Given the description of an element on the screen output the (x, y) to click on. 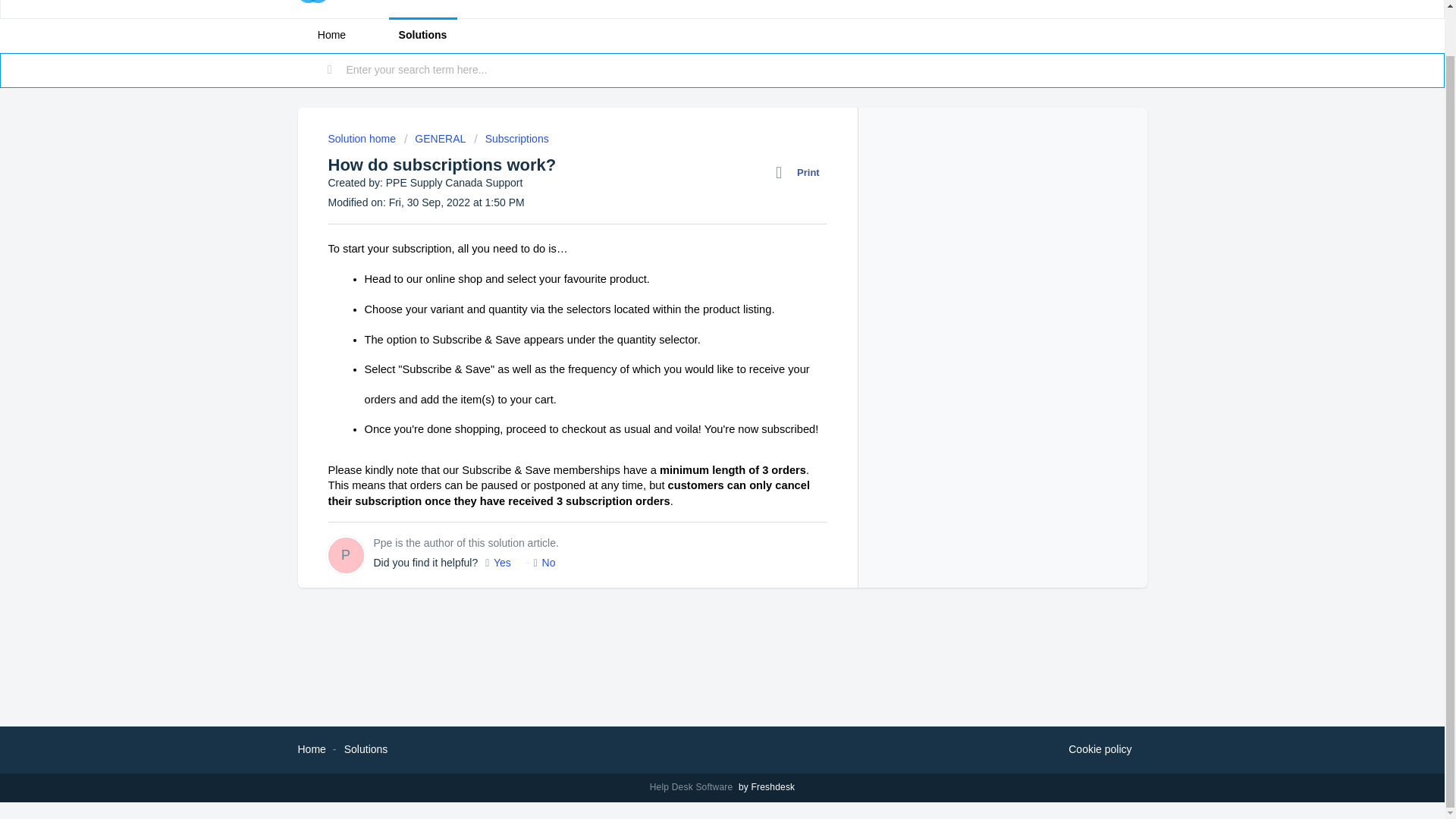
Print (801, 172)
Home (331, 35)
Help Desk Software (693, 787)
Solutions (365, 748)
Solutions (422, 35)
Why we love Cookies (1099, 750)
Subscriptions (511, 138)
Cookie policy (1099, 750)
Home (310, 748)
GENERAL (434, 138)
Solution home (362, 138)
Print this Article (801, 172)
